Given the description of an element on the screen output the (x, y) to click on. 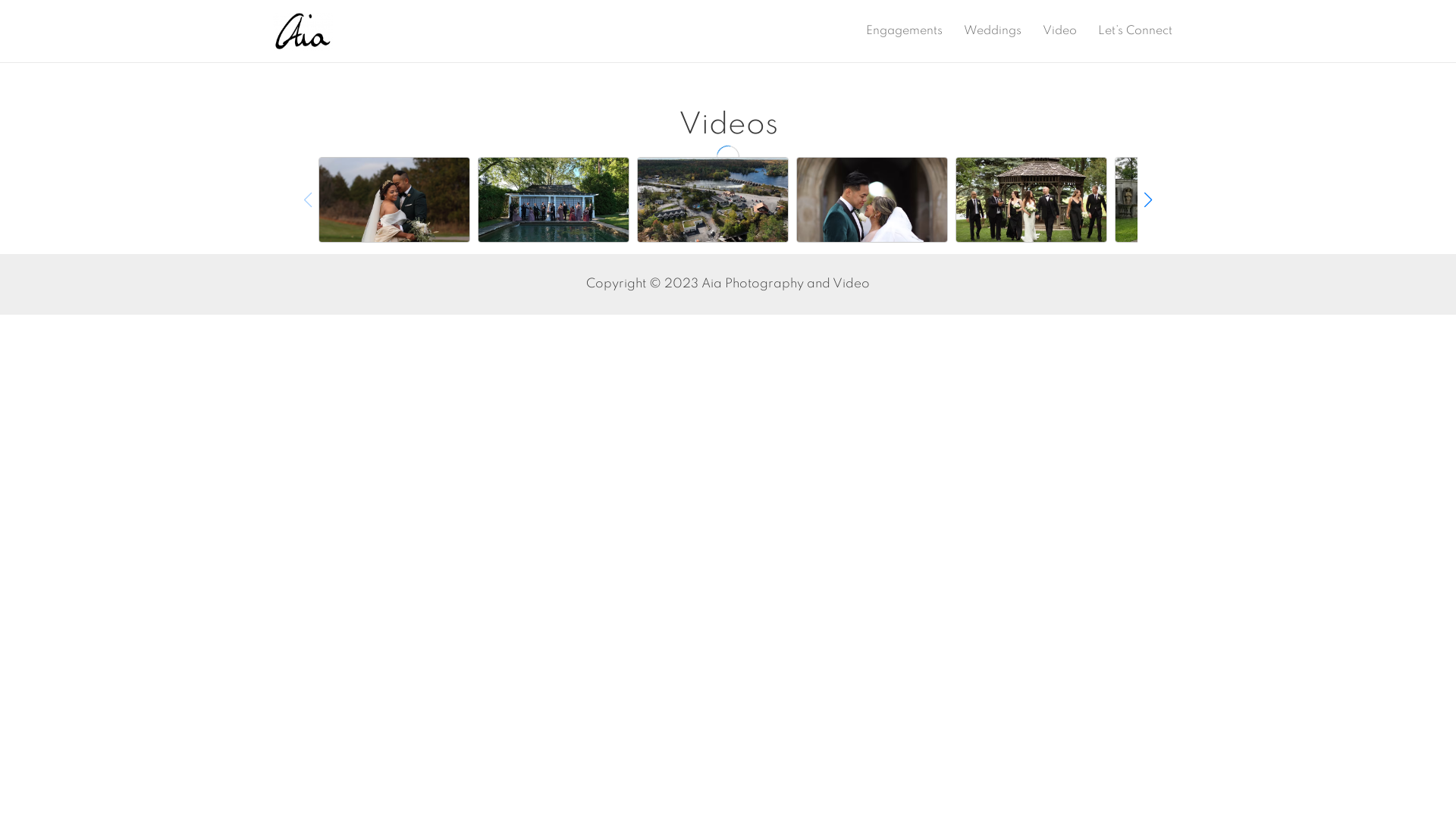
Engagements Element type: text (904, 30)
Adrian & Stephanie Element type: hover (553, 199)
Troy & Chantal Element type: hover (1190, 199)
Eryka & Jason Element type: hover (712, 199)
Video Element type: text (1059, 30)
Brittany & Steve Element type: hover (1031, 199)
James & Tasha SDE Element type: hover (394, 199)
Bryan & Christine SDE Element type: hover (871, 199)
Weddings Element type: text (992, 30)
